Given the description of an element on the screen output the (x, y) to click on. 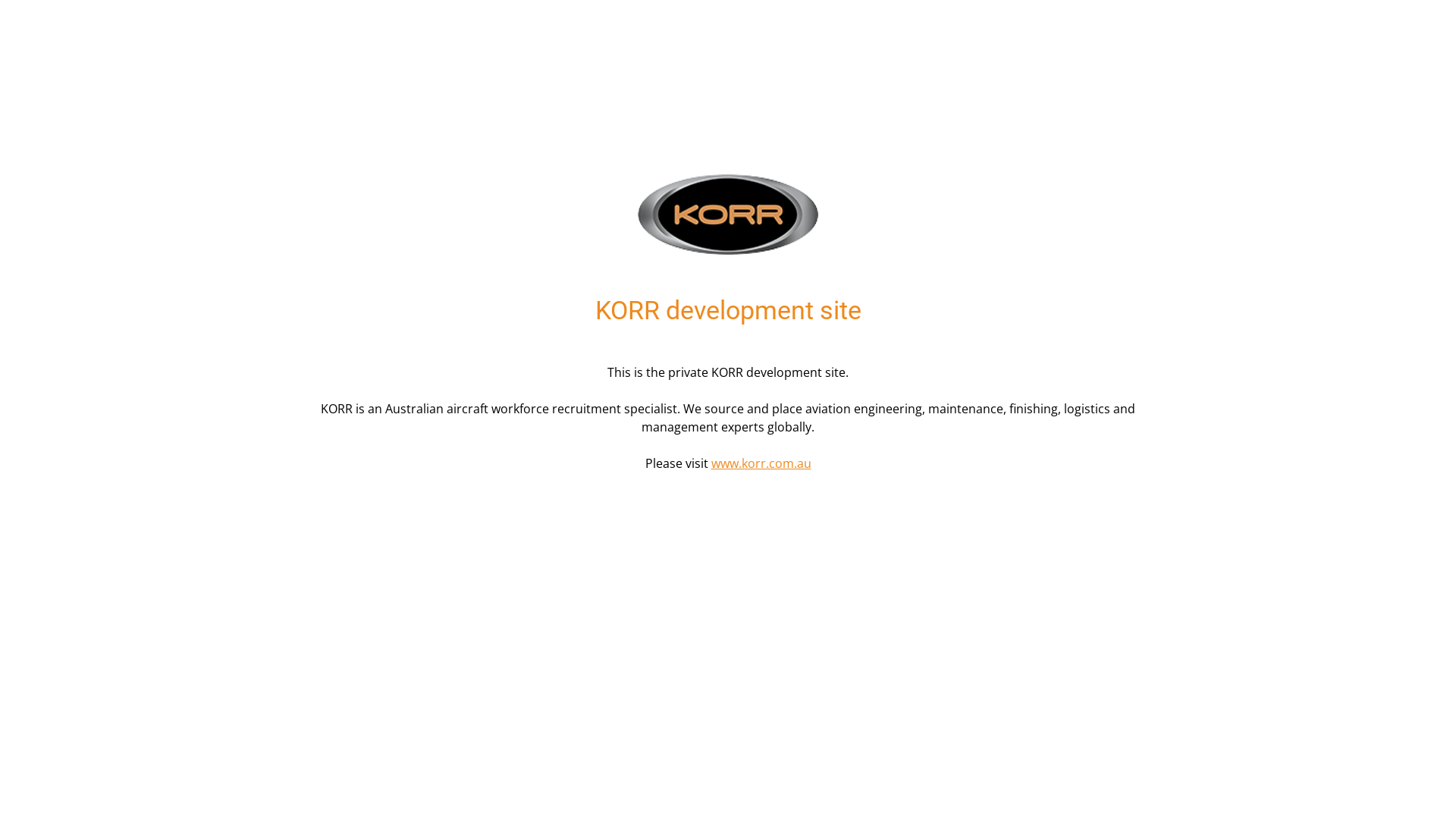
www.korr.com.au Element type: text (761, 463)
